Given the description of an element on the screen output the (x, y) to click on. 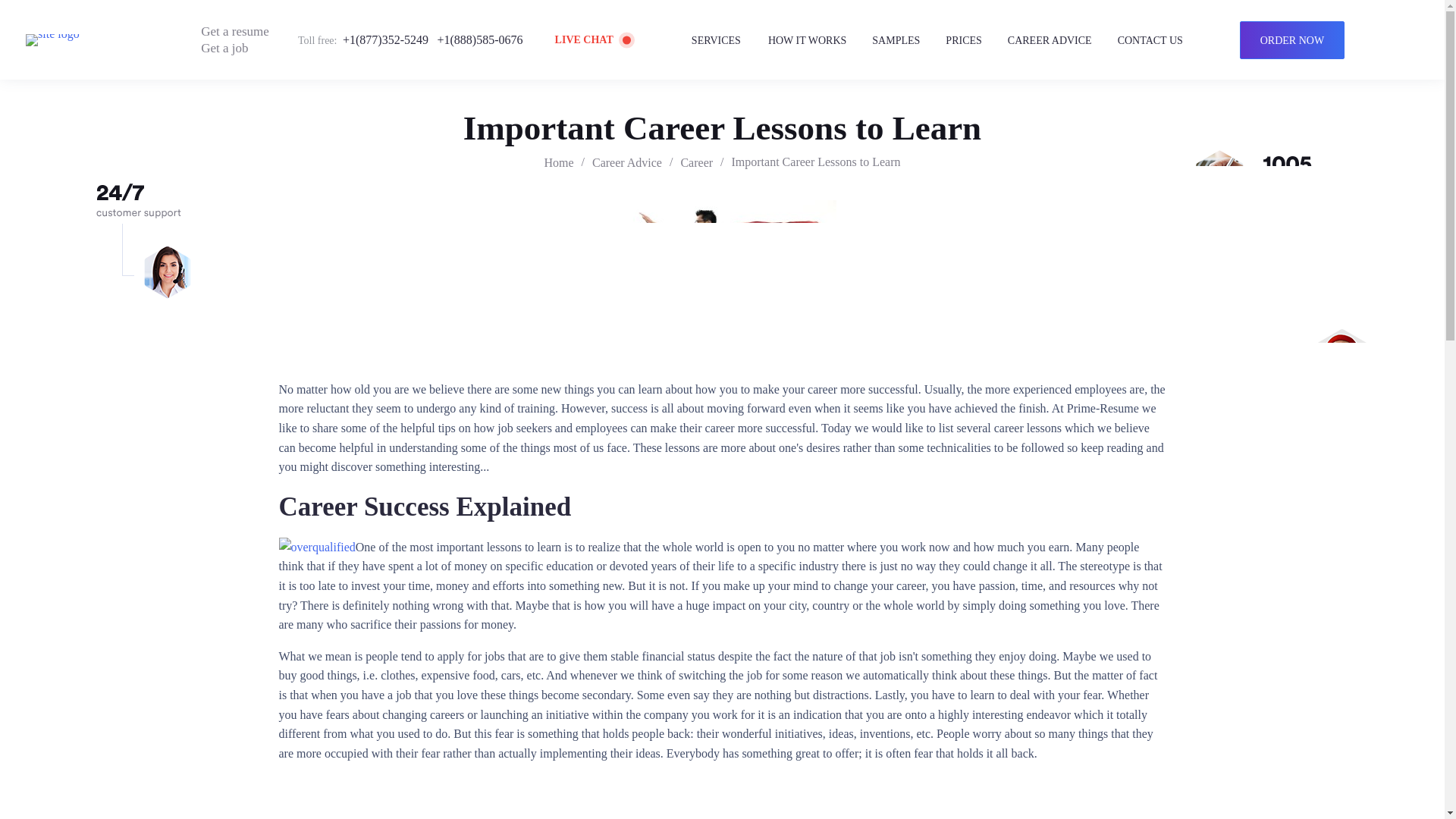
CONTACT US (1149, 40)
SERVICES (716, 40)
LIVE CHAT (594, 39)
PRICES (963, 40)
Live Chat (594, 39)
Go to the Career Category archives. (696, 161)
Career Advice (627, 161)
SAMPLES (895, 40)
ORDER NOW (1291, 39)
CAREER ADVICE (1049, 40)
Go to Career Advice. (627, 161)
Home (558, 161)
Go to prime-resume.com. (558, 161)
Career (696, 161)
HOW IT WORKS (807, 40)
